Given the description of an element on the screen output the (x, y) to click on. 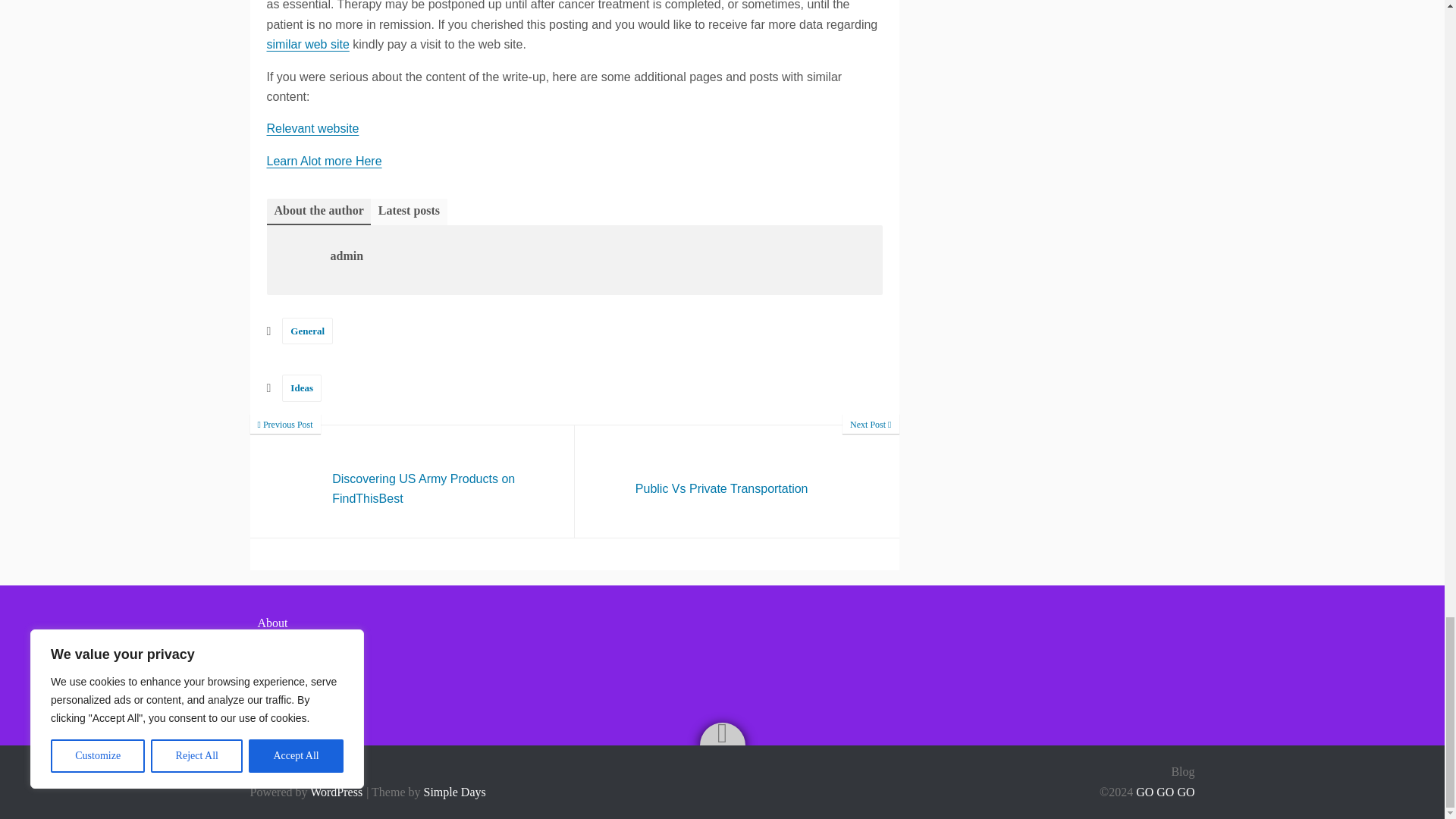
Ideas (301, 387)
General (737, 481)
Learn Alot more Here (307, 330)
similar web site (323, 160)
Relevant website (307, 43)
Public Vs Private Transportation (312, 128)
Discovering US Army Products on FindThisBest (737, 481)
